Given the description of an element on the screen output the (x, y) to click on. 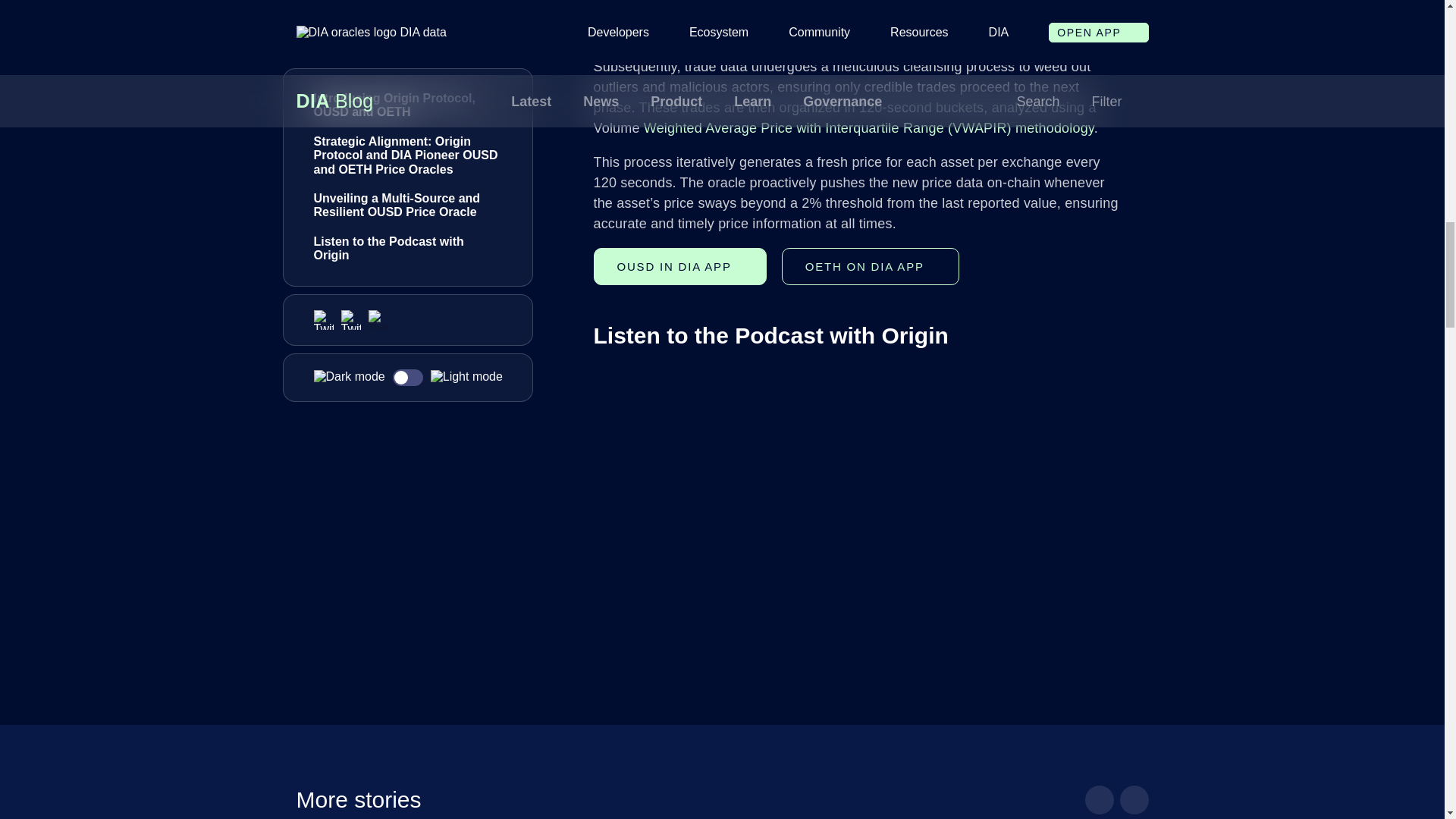
YouTube video player (804, 486)
